Given the description of an element on the screen output the (x, y) to click on. 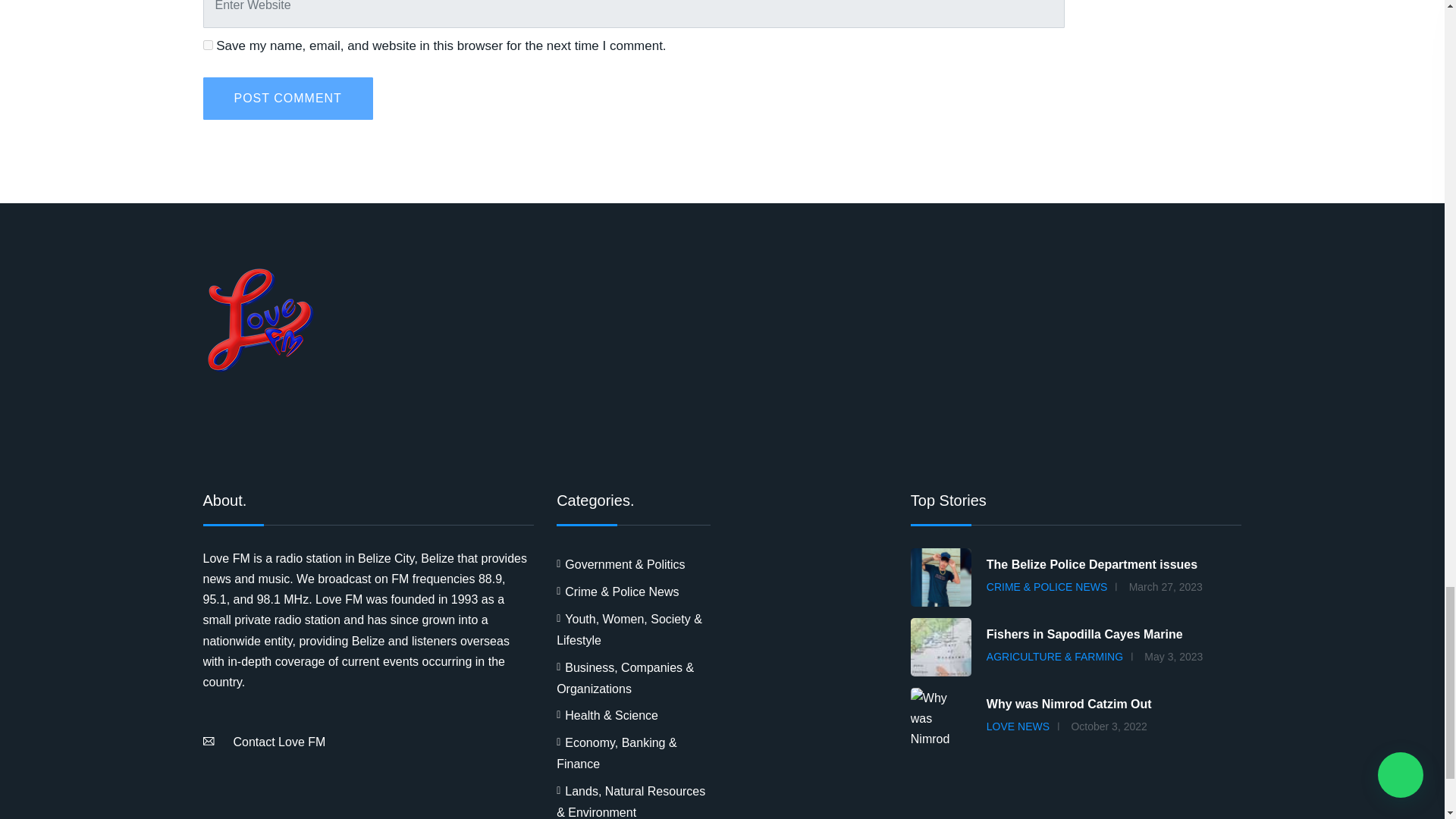
yes (207, 44)
Post Comment (287, 97)
